Given the description of an element on the screen output the (x, y) to click on. 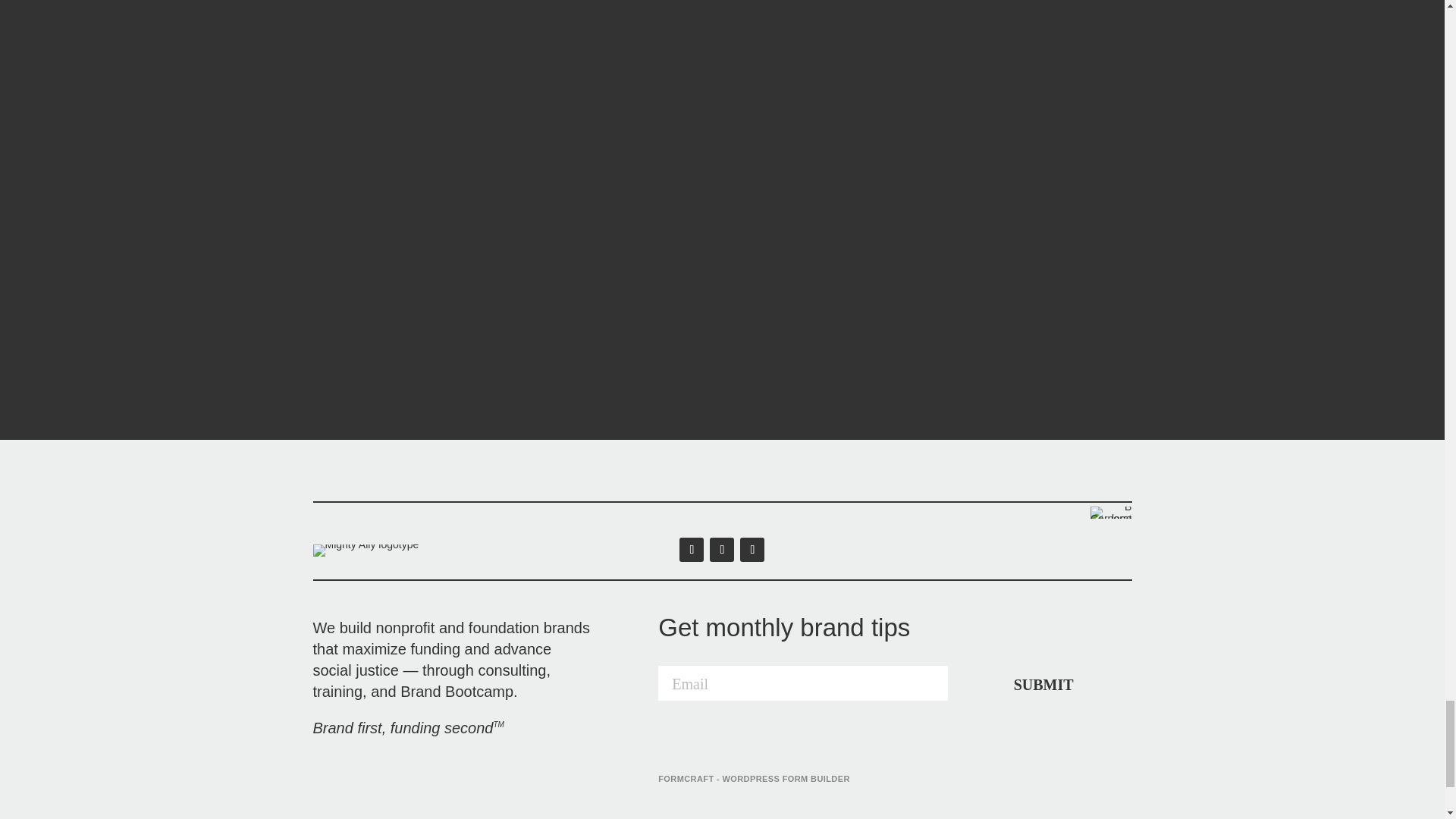
FORMCRAFT - WORDPRESS FORM BUILDER (754, 778)
Follow on X (721, 549)
Certified-B-Corporation-black-Mighty-Ally (1110, 512)
Follow on Facebook (751, 549)
SUBMIT (1043, 683)
Follow on LinkedIn (691, 549)
MIGHTY-ALLY-logotype-black (366, 550)
